Given the description of an element on the screen output the (x, y) to click on. 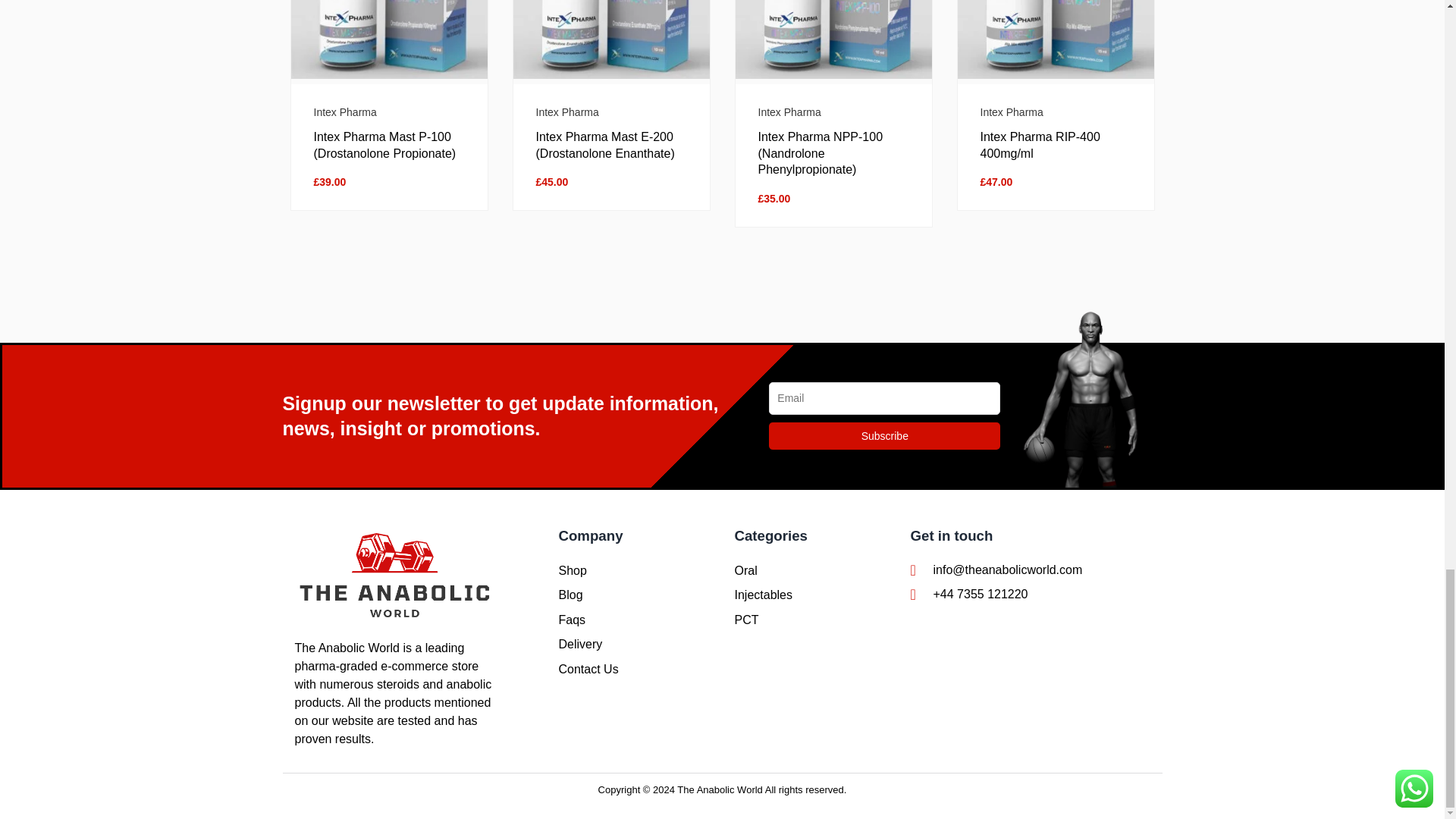
Subscribe (884, 435)
